Given the description of an element on the screen output the (x, y) to click on. 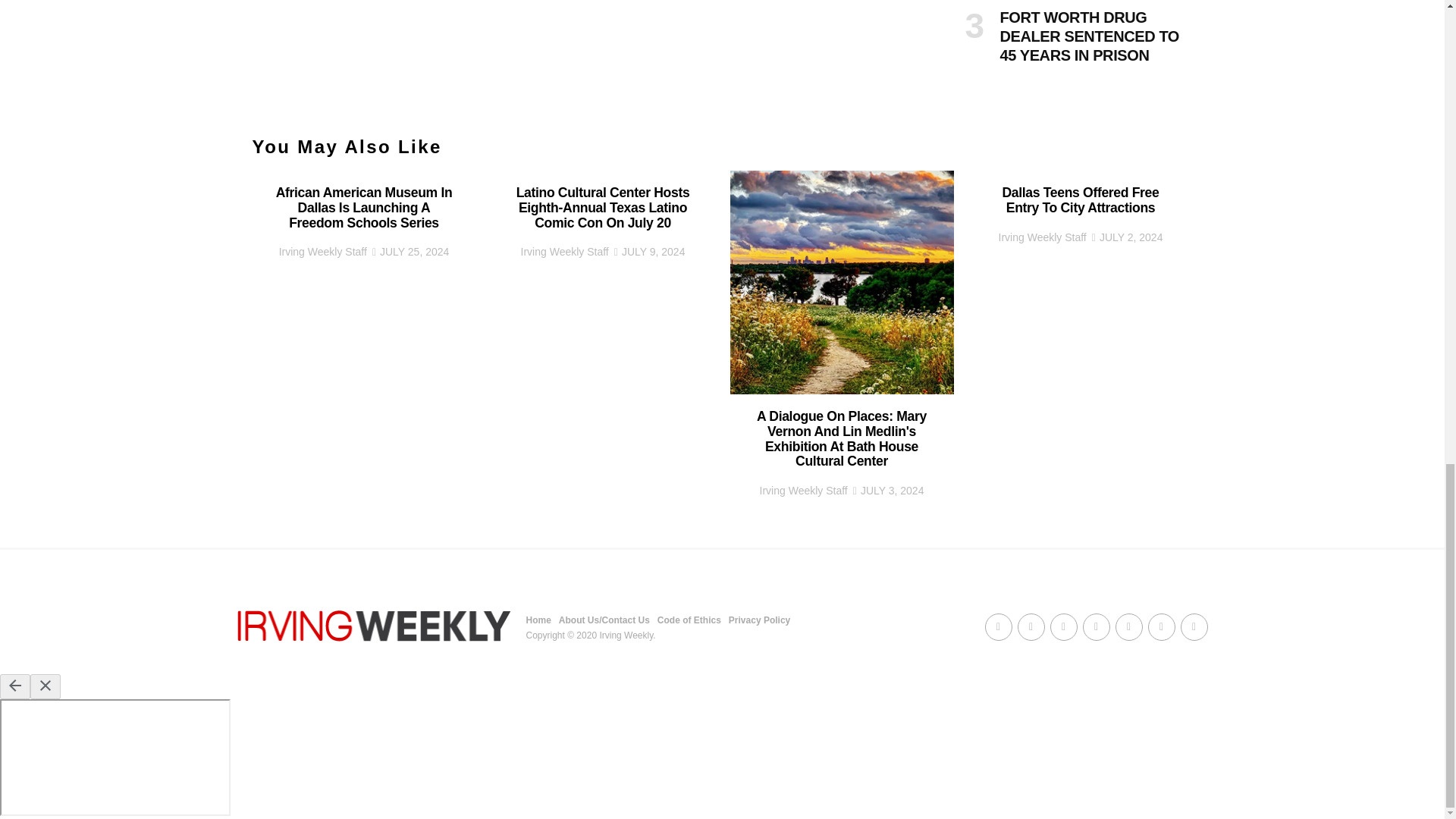
Posts by Irving Weekly Staff (564, 251)
Posts by Irving Weekly Staff (1042, 236)
Posts by Irving Weekly Staff (803, 490)
Posts by Irving Weekly Staff (322, 251)
